Given the description of an element on the screen output the (x, y) to click on. 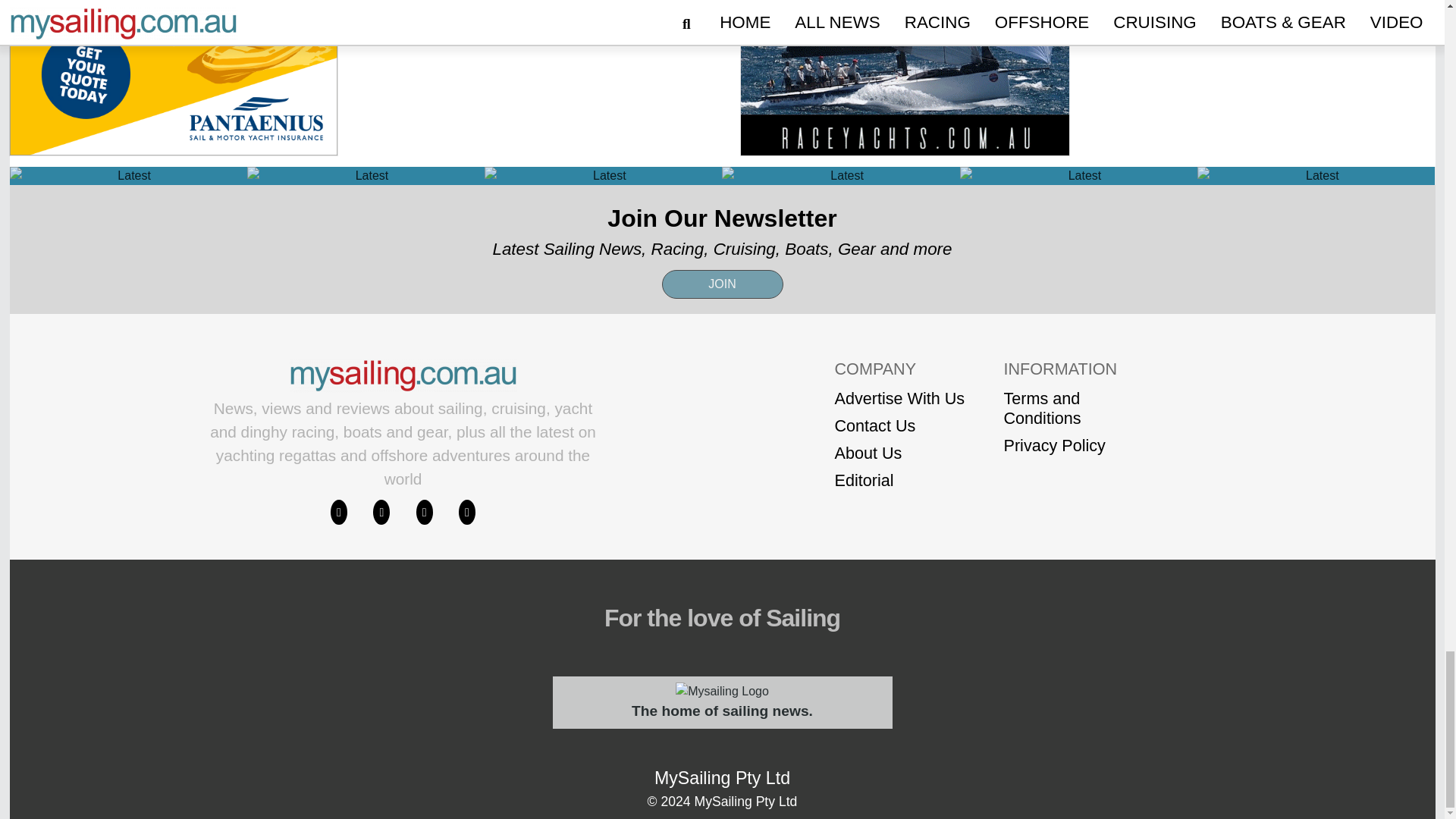
Contact Us (899, 425)
About Us (899, 453)
Advertise With Us (899, 398)
Editorial (899, 480)
